Given the description of an element on the screen output the (x, y) to click on. 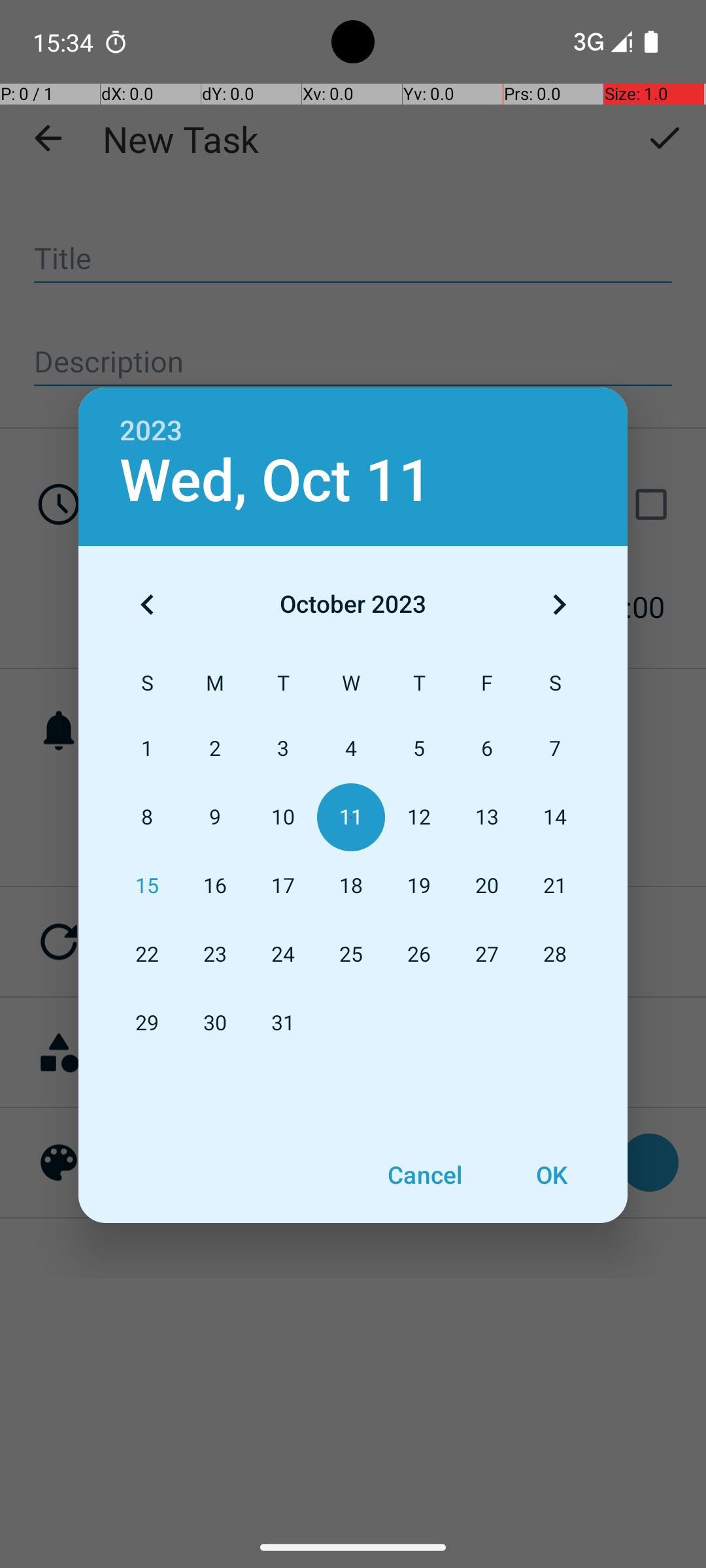
Wed, Oct 11 Element type: android.widget.TextView (275, 480)
